Given the description of an element on the screen output the (x, y) to click on. 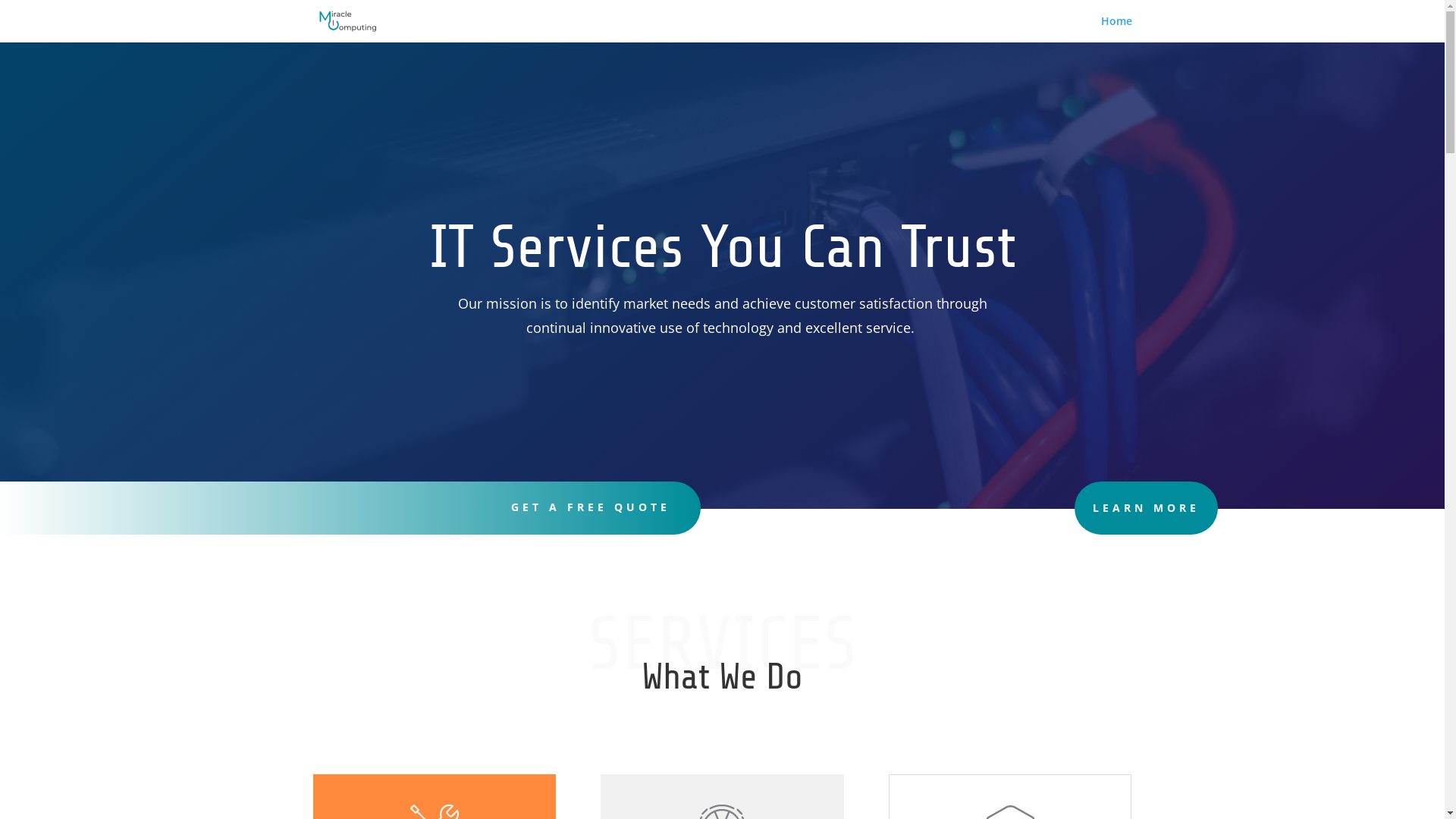
LEARN MORE Element type: text (1145, 507)
Home Element type: text (1116, 28)
GET A FREE QUOTE Element type: text (590, 506)
